Given the description of an element on the screen output the (x, y) to click on. 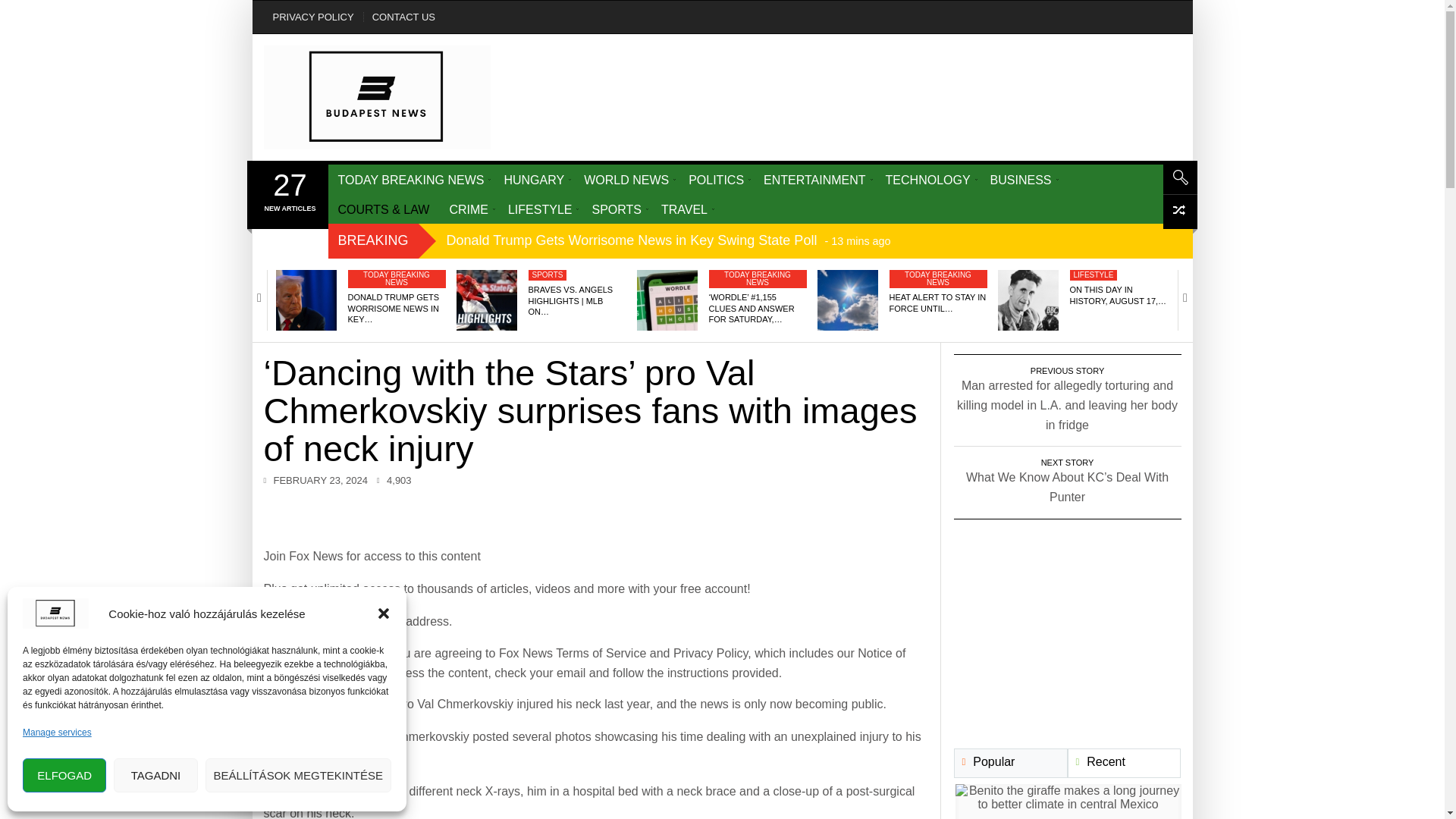
PRIVACY POLICY (312, 16)
CONTACT US (403, 16)
HUNGARY (533, 179)
TODAY BREAKING NEWS (410, 179)
Budapest NEWS (377, 97)
Manage services (57, 732)
TAGADNI (154, 775)
WORLD NEWS (625, 179)
ELFOGAD (64, 775)
